Given the description of an element on the screen output the (x, y) to click on. 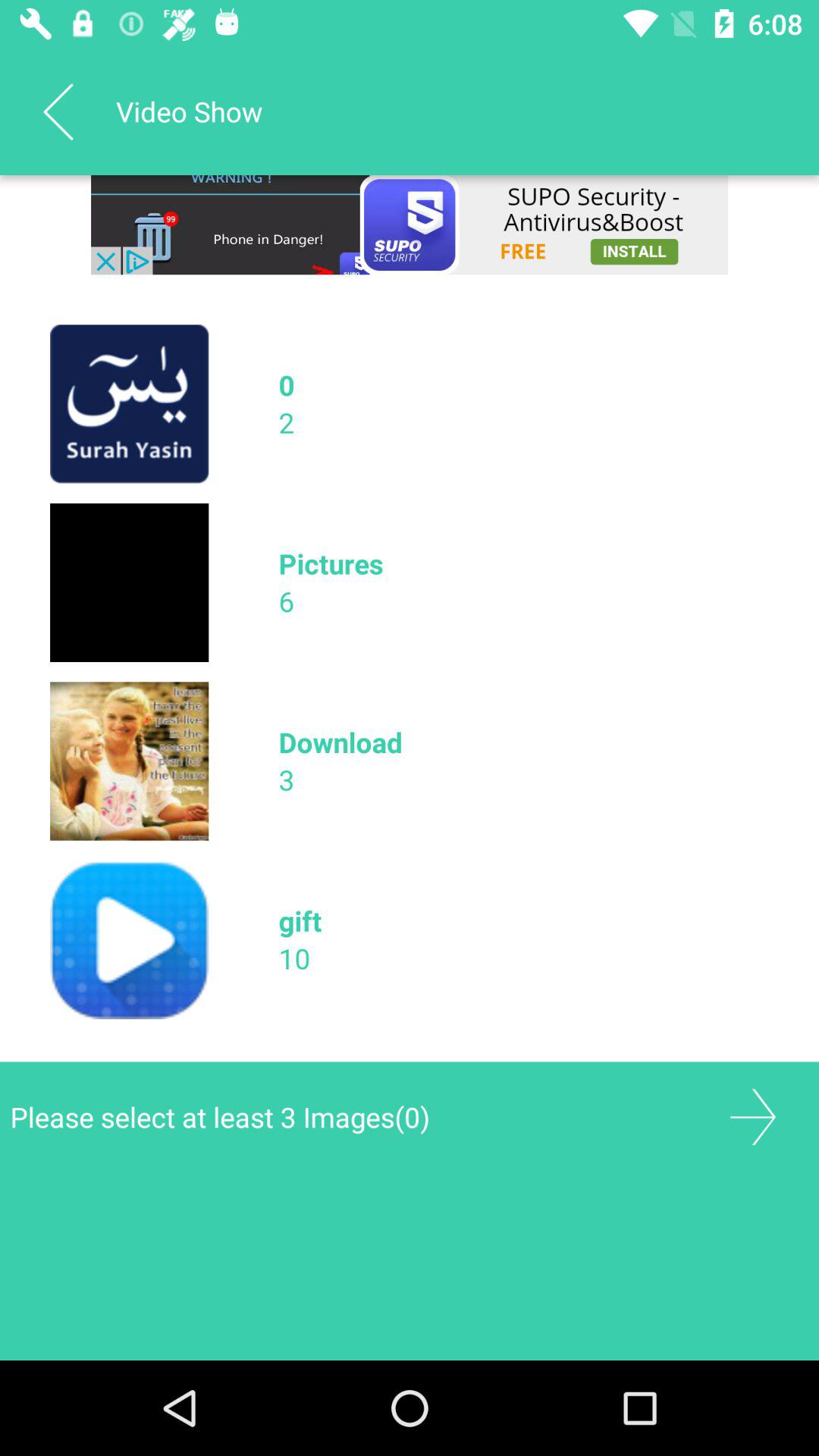
remove the add (409, 224)
